Given the description of an element on the screen output the (x, y) to click on. 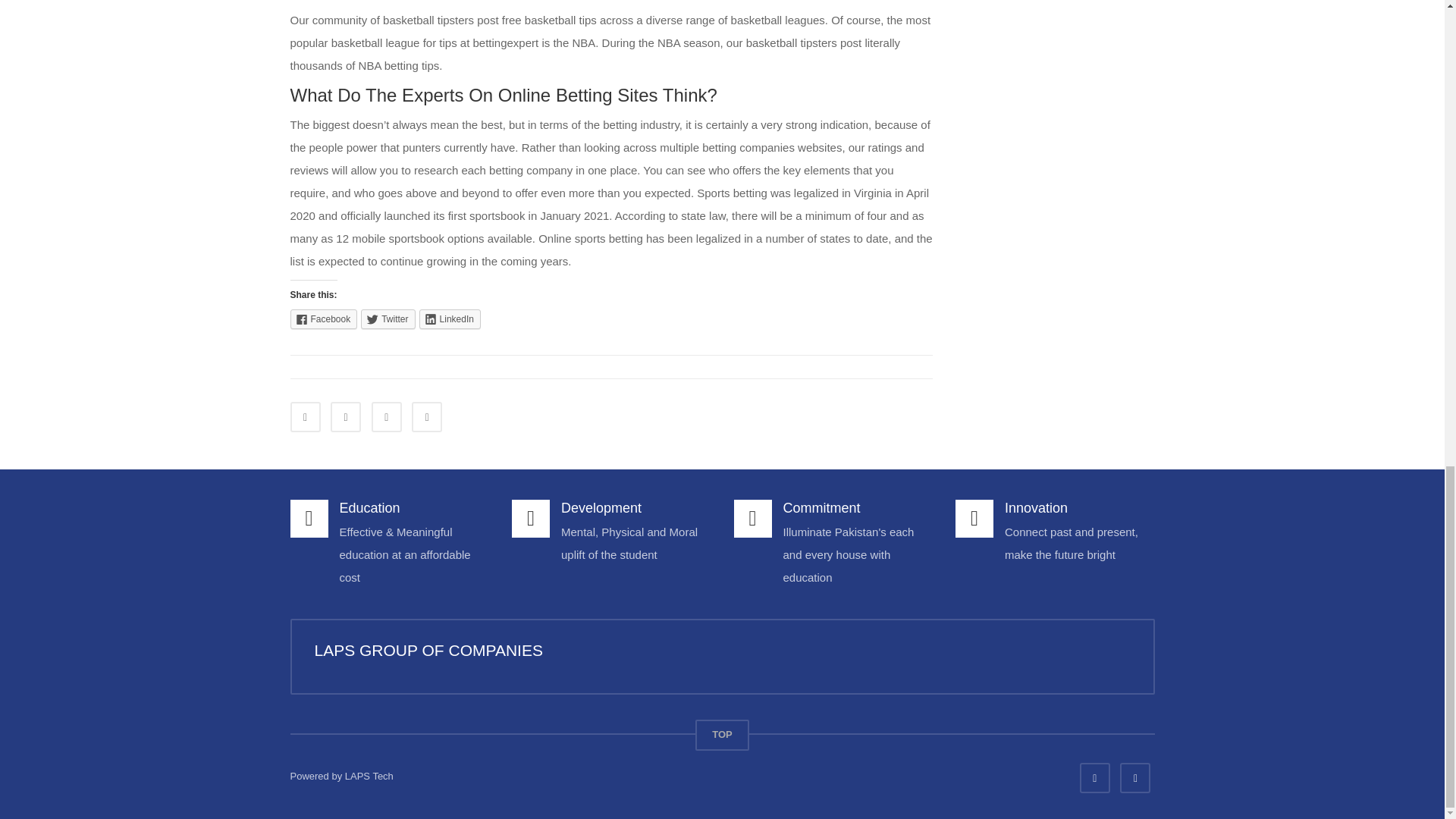
Twitter (387, 319)
Click to share on LinkedIn (449, 319)
Share on Facebook (304, 417)
Share on Google Plus (427, 417)
Share on LinkedIn (386, 417)
Click to share on Facebook (322, 319)
Click to share on Twitter (387, 319)
LinkedIn (449, 319)
Facebook (322, 319)
Share on Twitter (345, 417)
